Given the description of an element on the screen output the (x, y) to click on. 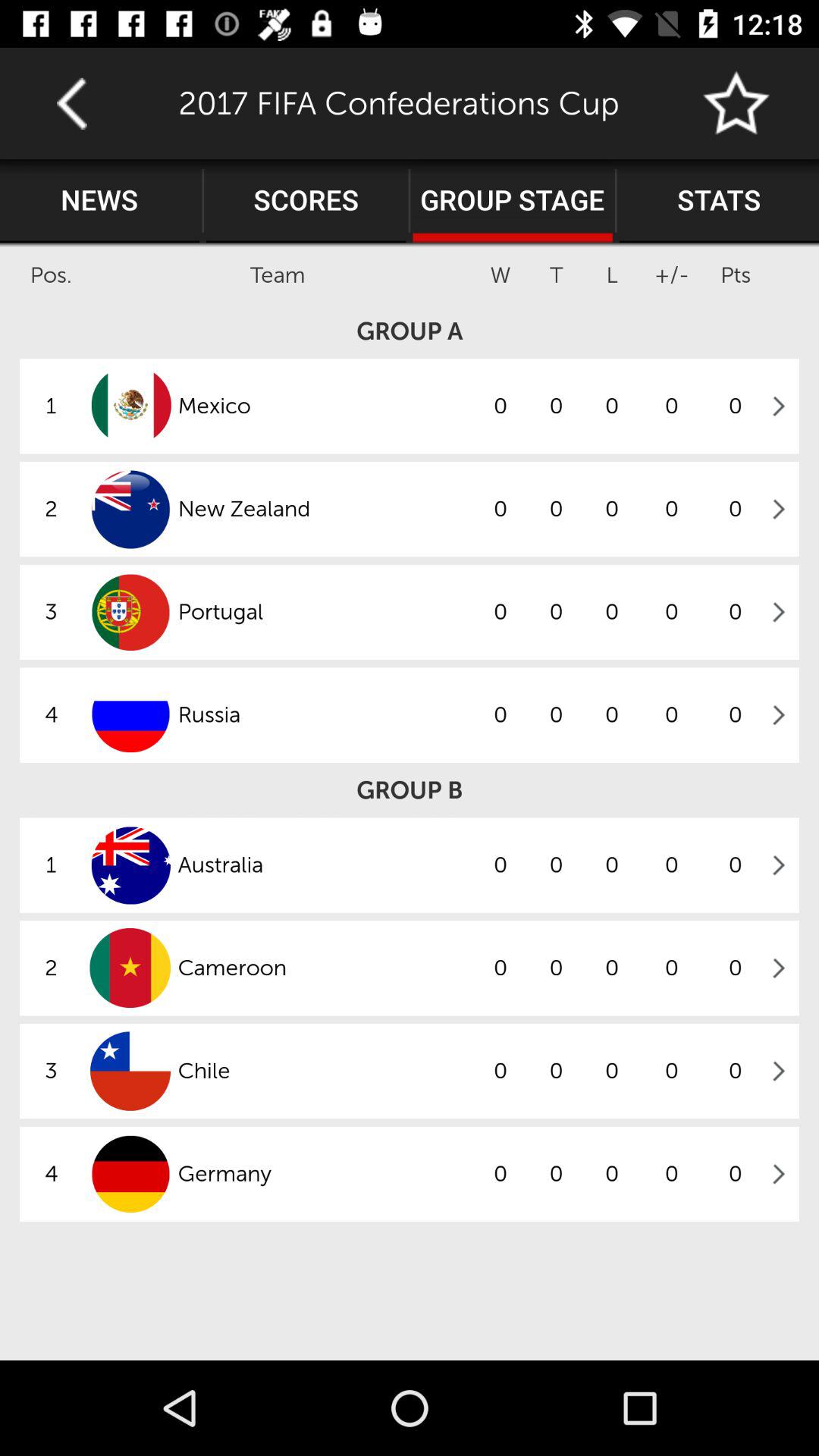
swipe until new zealand (325, 508)
